Given the description of an element on the screen output the (x, y) to click on. 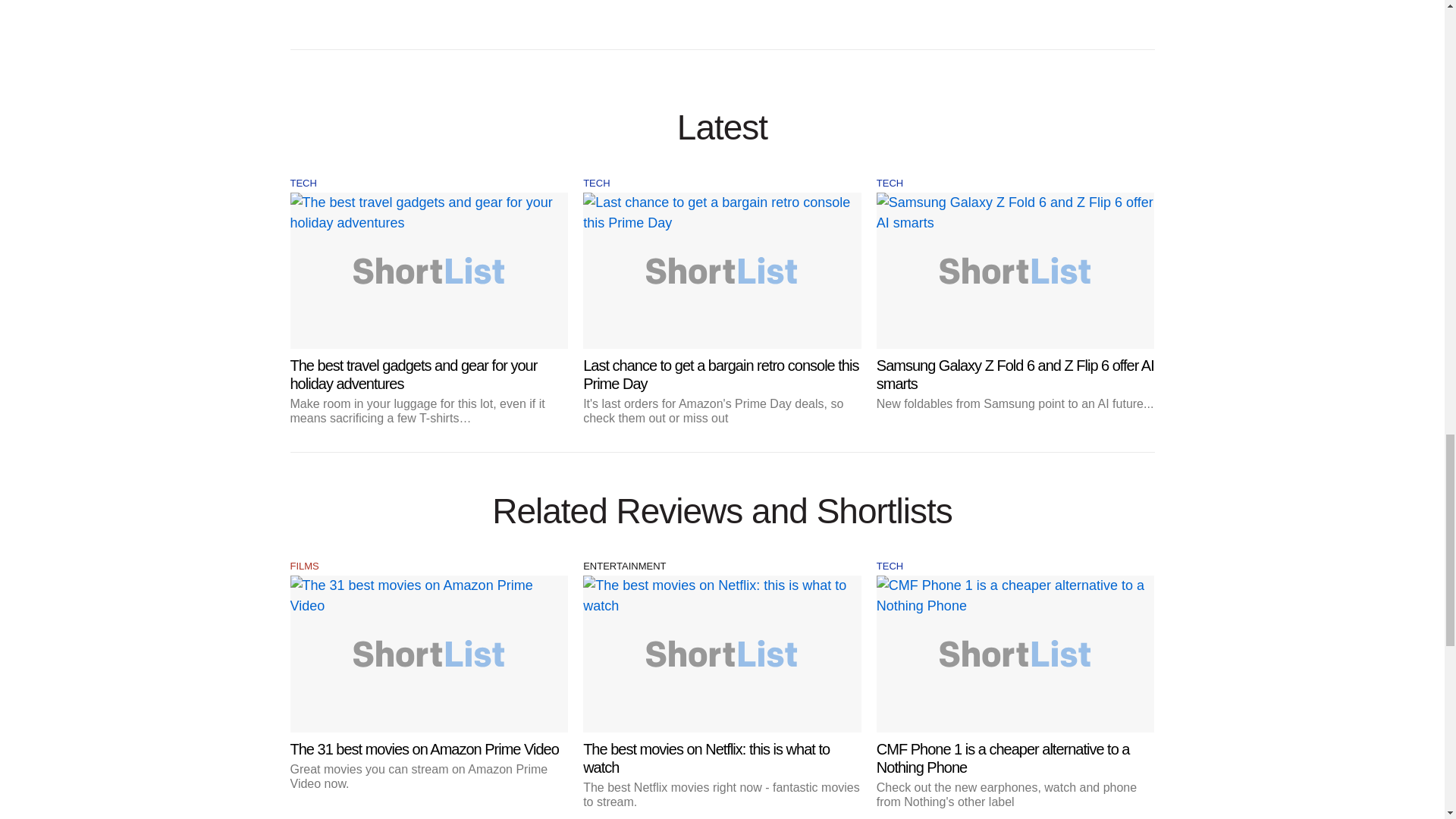
The best travel gadgets and gear for your holiday adventures (428, 308)
